Given the description of an element on the screen output the (x, y) to click on. 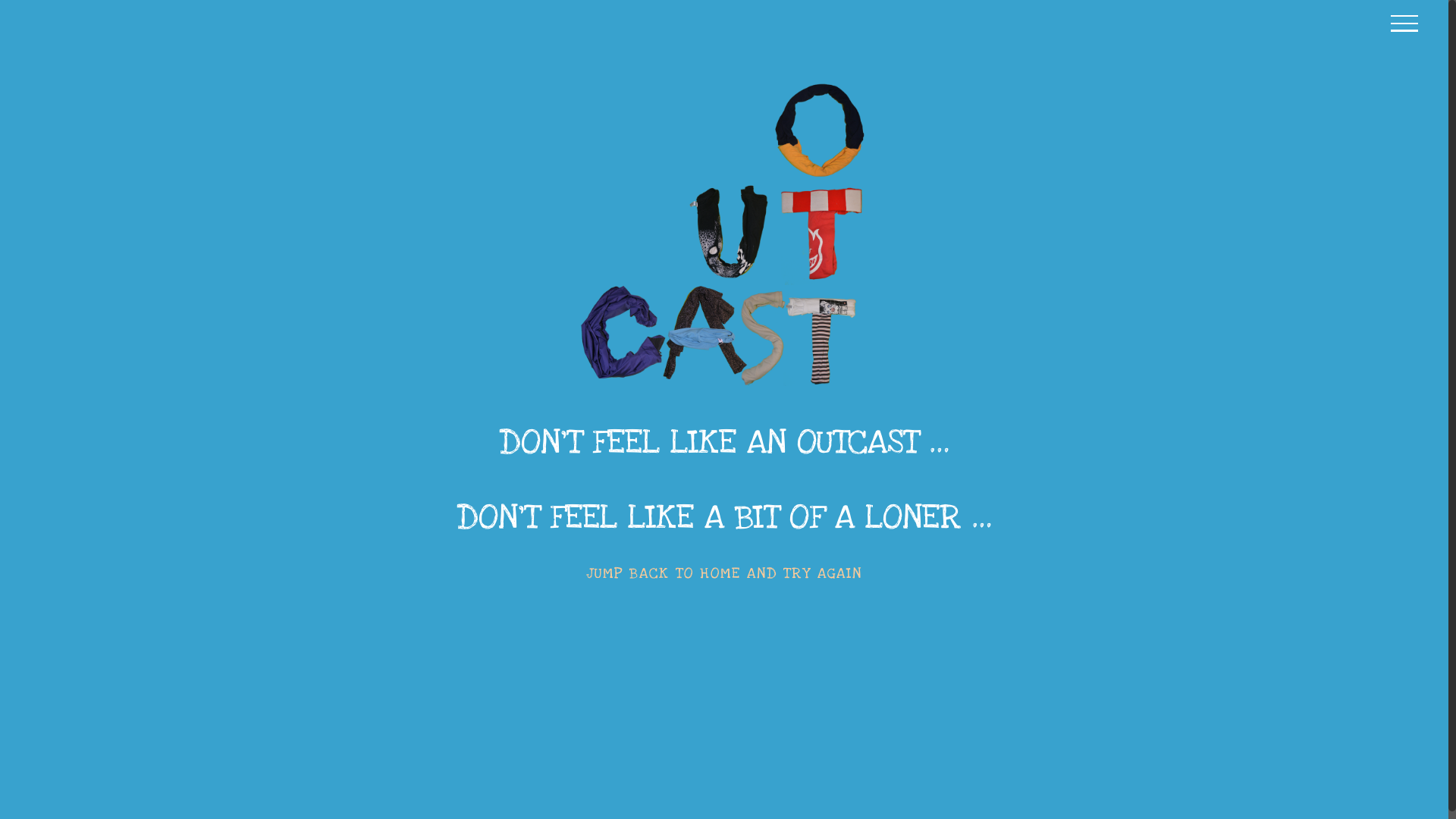
OUTCAST Molly Millington Element type: hover (723, 234)
